Given the description of an element on the screen output the (x, y) to click on. 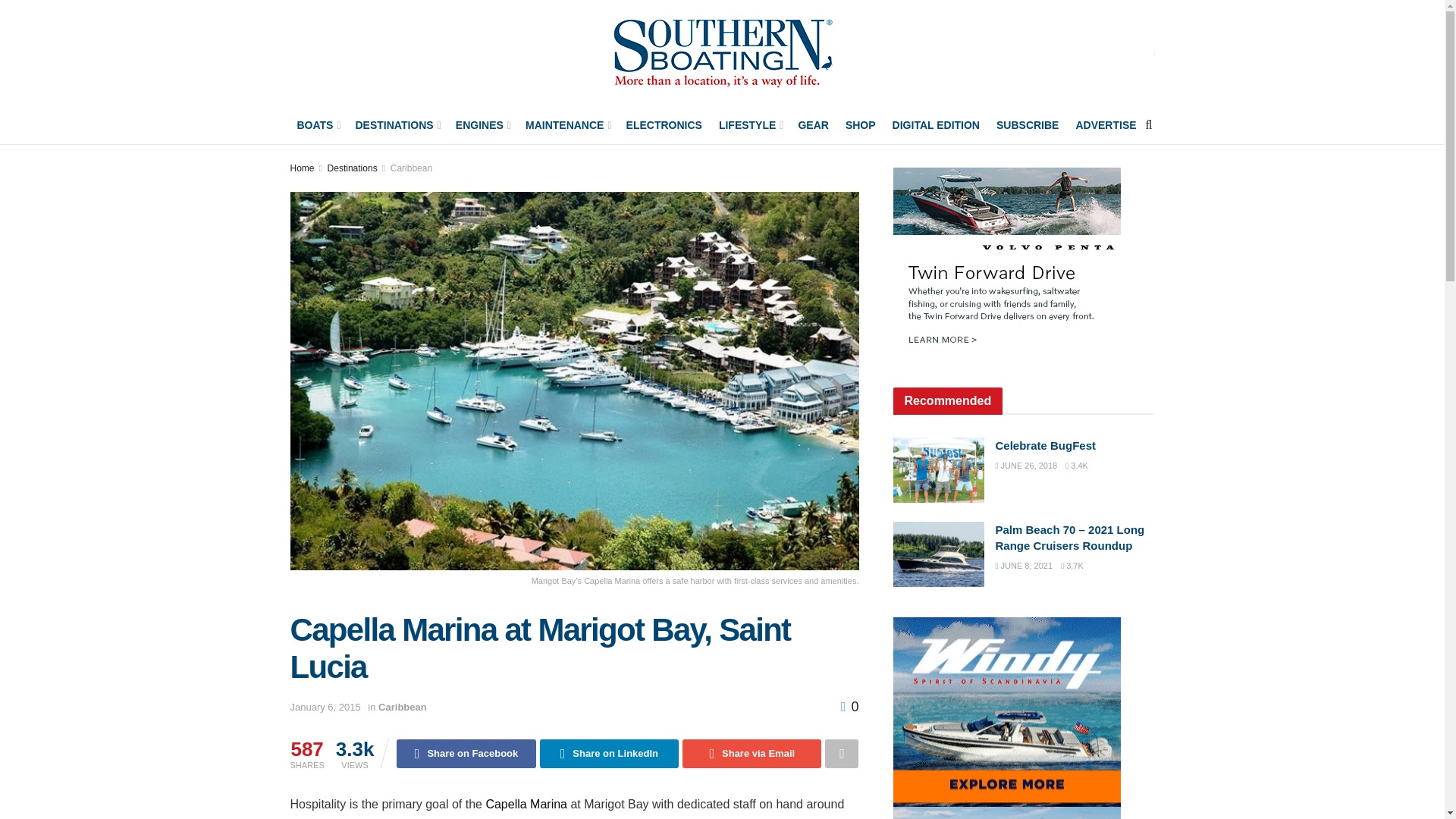
ENGINES (481, 124)
BOATS (317, 124)
SUBSCRIBE (1026, 124)
DESTINATIONS (396, 124)
LIFESTYLE (750, 124)
GEAR (812, 124)
DIGITAL EDITION (935, 124)
ADVERTISE (1105, 124)
SHOP (860, 124)
ELECTRONICS (663, 124)
MAINTENANCE (567, 124)
